Given the description of an element on the screen output the (x, y) to click on. 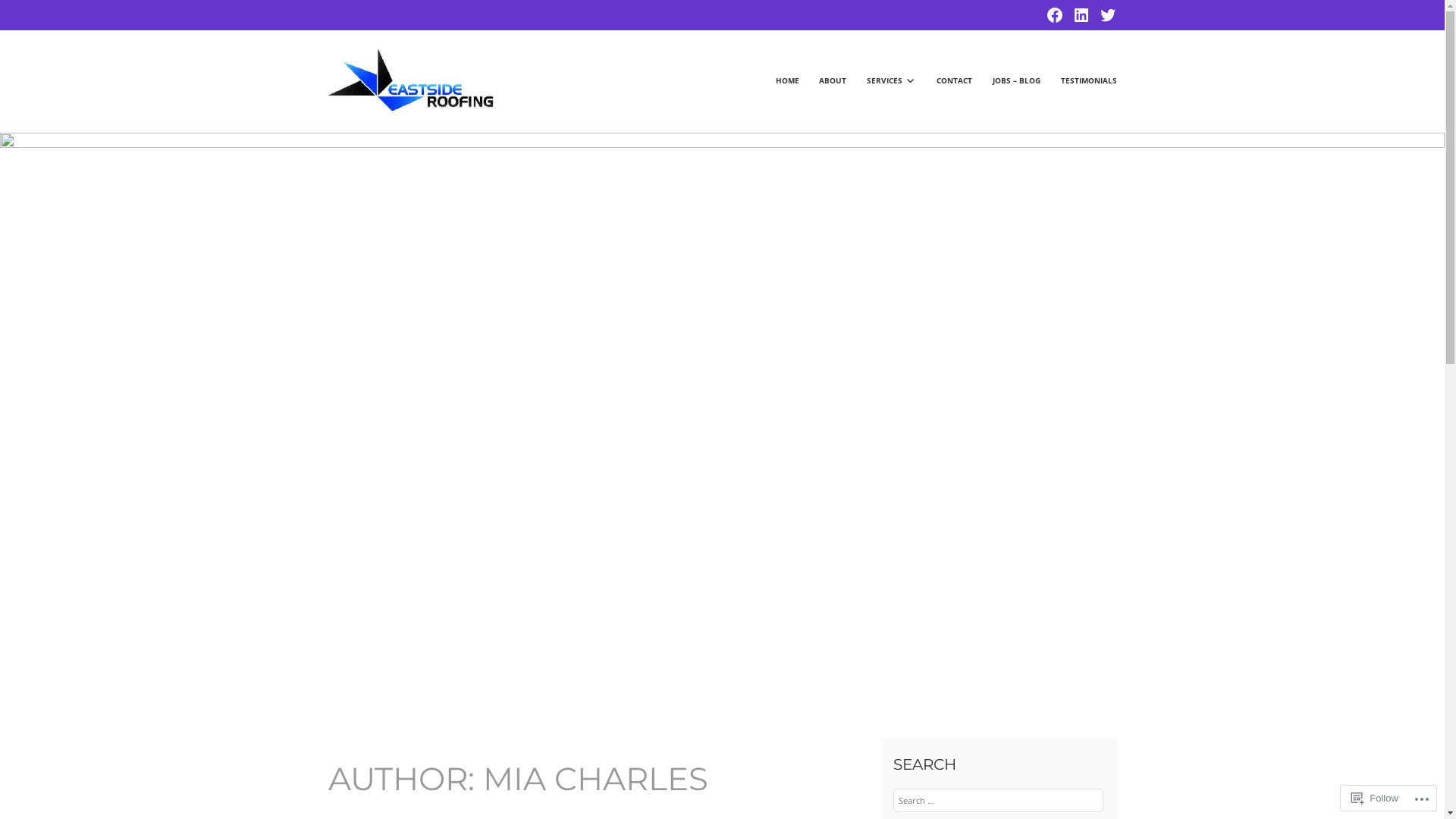
EASTSIDE ROOFING PTY Element type: text (695, 59)
ABOUT Element type: text (824, 80)
SERVICES Element type: text (882, 80)
CONTACT Element type: text (945, 80)
HOME Element type: text (778, 80)
TESTIMONIALS Element type: text (1079, 80)
Search Element type: text (33, 12)
Follow Element type: text (1374, 797)
